Given the description of an element on the screen output the (x, y) to click on. 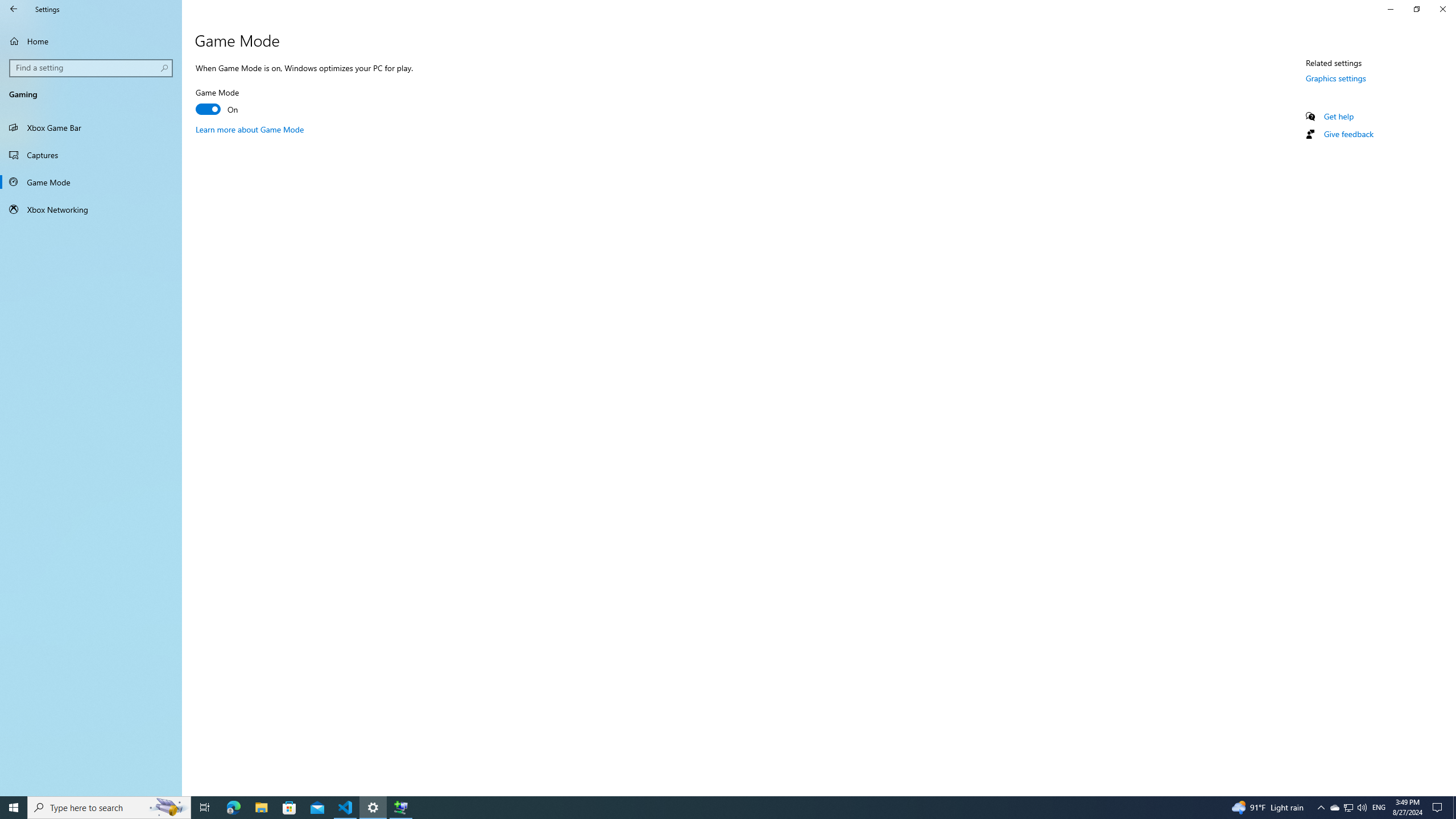
Extensible Wizards Host Process - 1 running window (400, 807)
Captures (91, 154)
Start (13, 807)
Graphics settings (1335, 77)
Restore Settings (1416, 9)
Task View (204, 807)
Microsoft Store (289, 807)
File Explorer (261, 807)
Type here to search (108, 807)
User Promoted Notification Area (1347, 807)
Search highlights icon opens search home window (167, 807)
Search box, Find a setting (91, 67)
Get help (1338, 116)
Action Center, No new notifications (1439, 807)
